Given the description of an element on the screen output the (x, y) to click on. 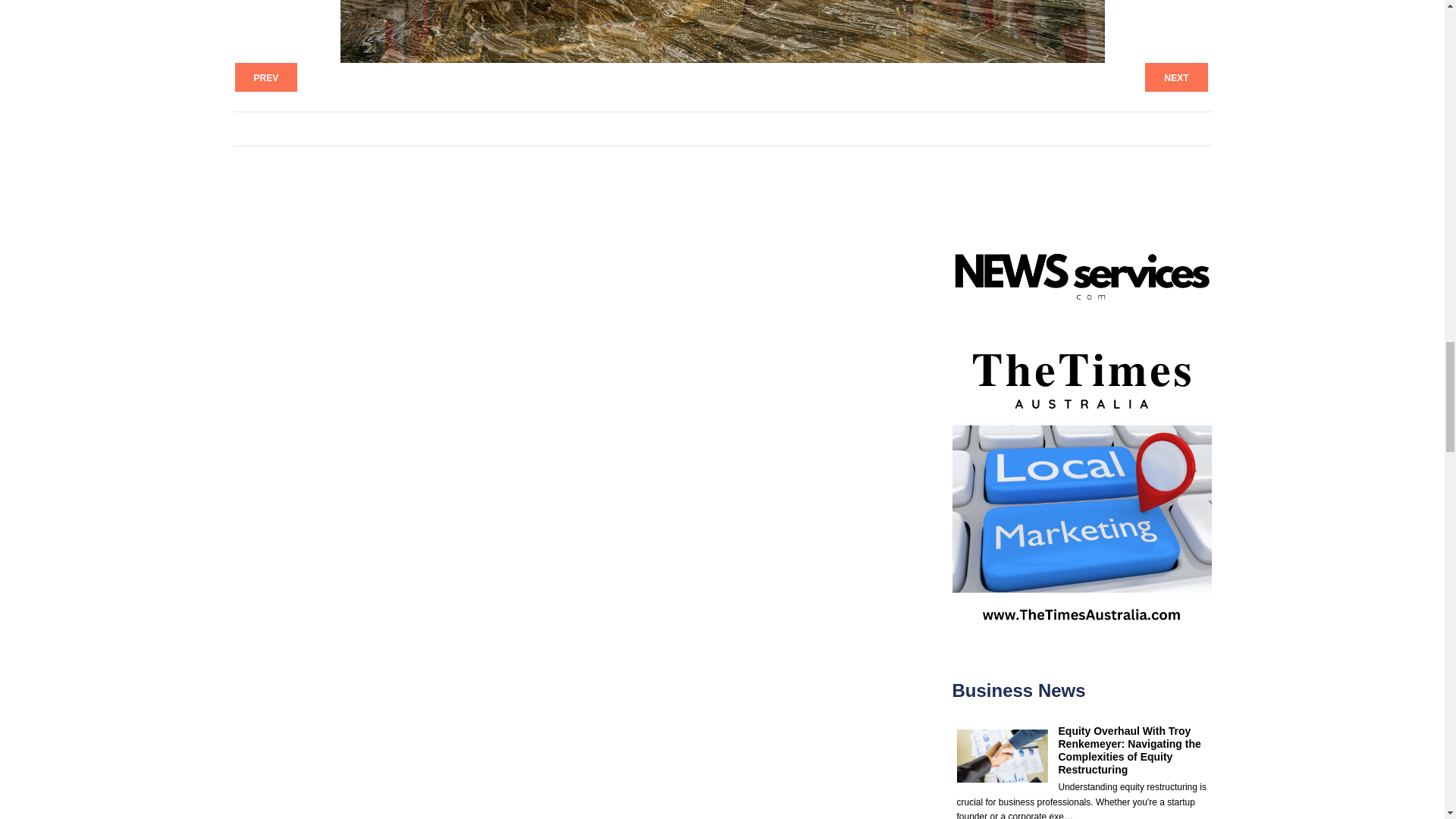
PREV (266, 77)
NEXT (1175, 77)
